Given the description of an element on the screen output the (x, y) to click on. 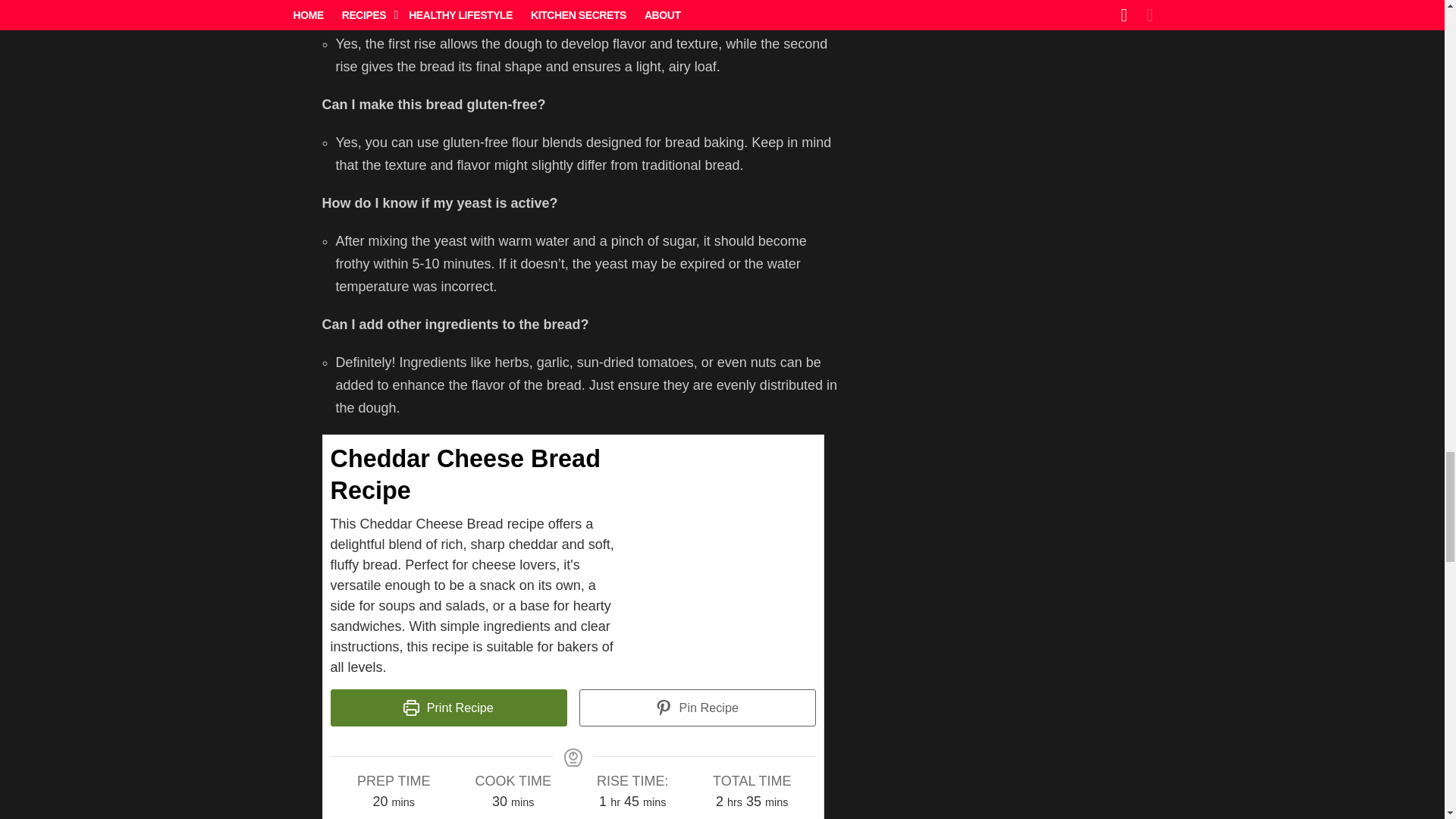
Print Recipe (448, 707)
Pin Recipe (697, 707)
